Given the description of an element on the screen output the (x, y) to click on. 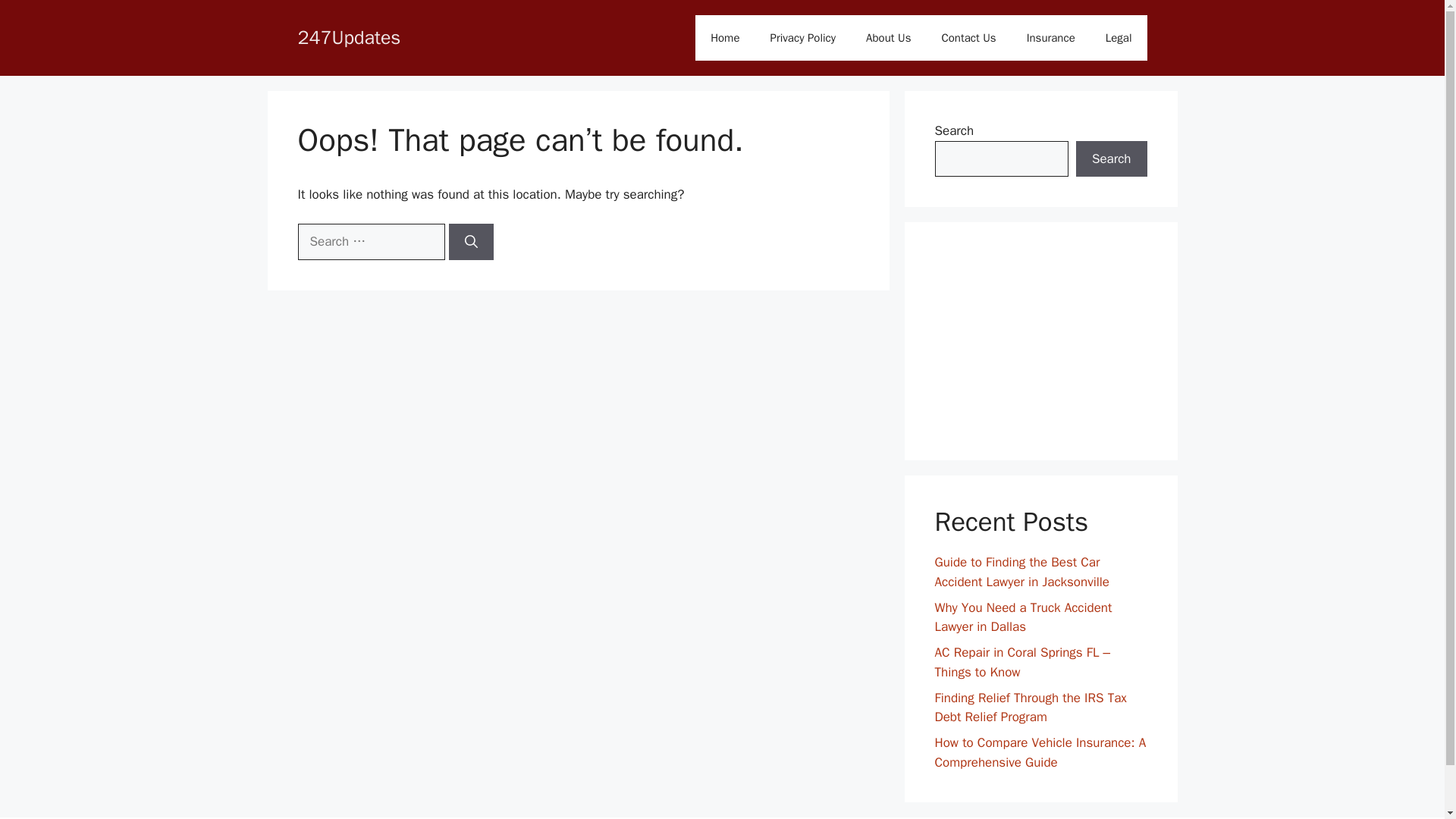
247Updates (348, 37)
Privacy Policy (803, 37)
Why You Need a Truck Accident Lawyer in Dallas (1023, 616)
Search (1111, 158)
Search for: (370, 241)
About Us (888, 37)
Legal (1118, 37)
How to Compare Vehicle Insurance: A Comprehensive Guide (1039, 752)
Advertisement (1040, 340)
